Given the description of an element on the screen output the (x, y) to click on. 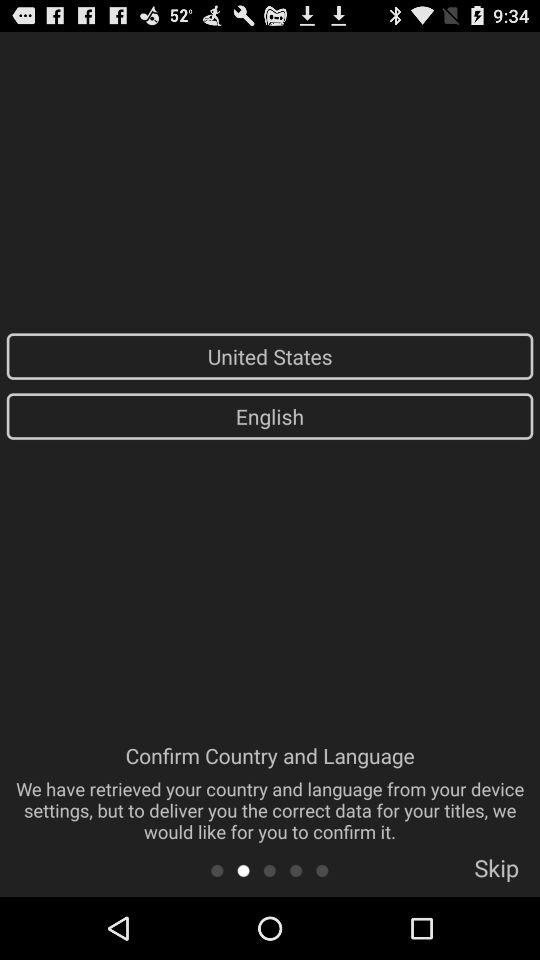
turn on the icon above english icon (269, 356)
